Given the description of an element on the screen output the (x, y) to click on. 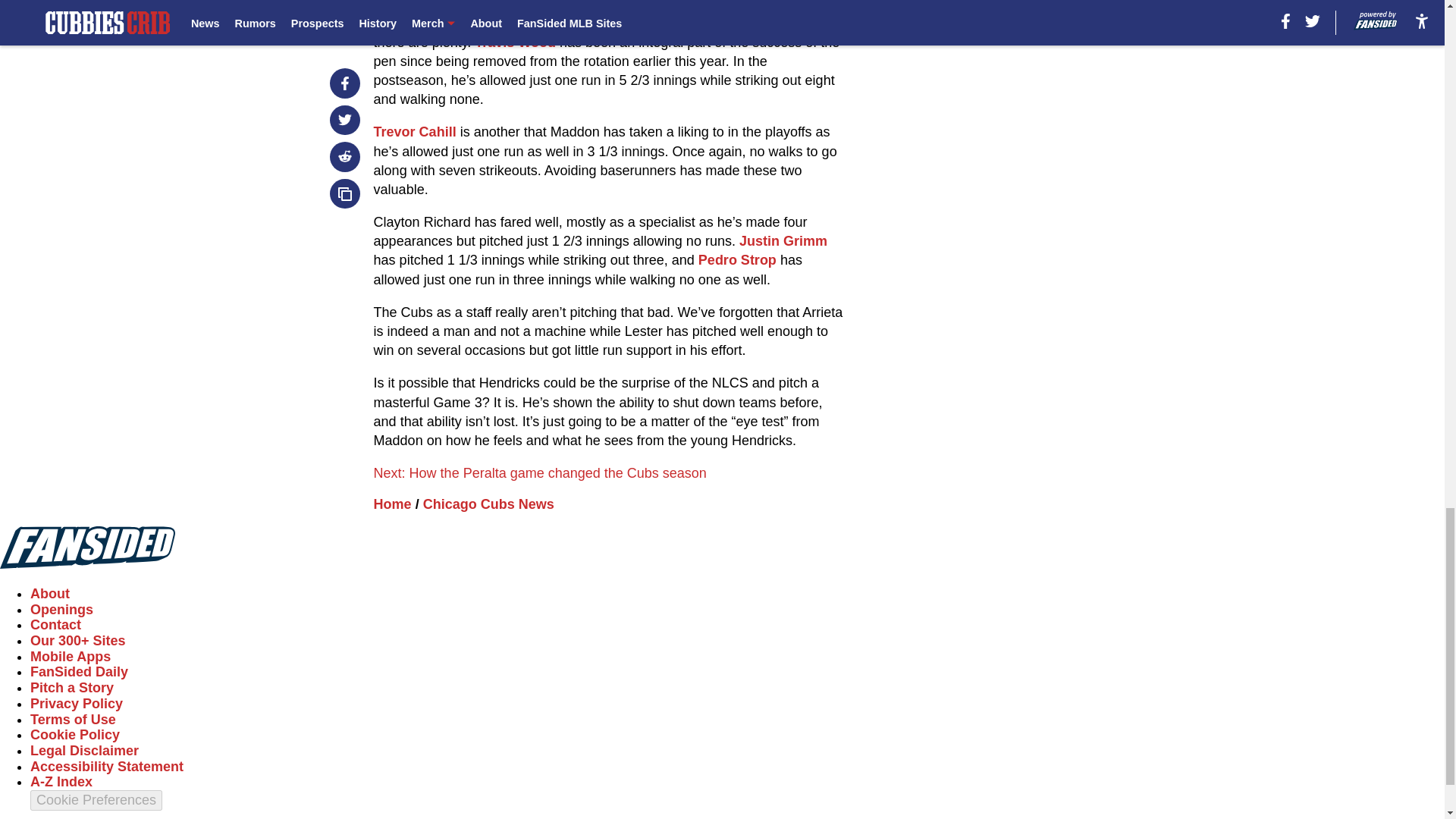
Travis Wood (515, 42)
Justin Grimm (783, 240)
Trevor Cahill (415, 131)
